Given the description of an element on the screen output the (x, y) to click on. 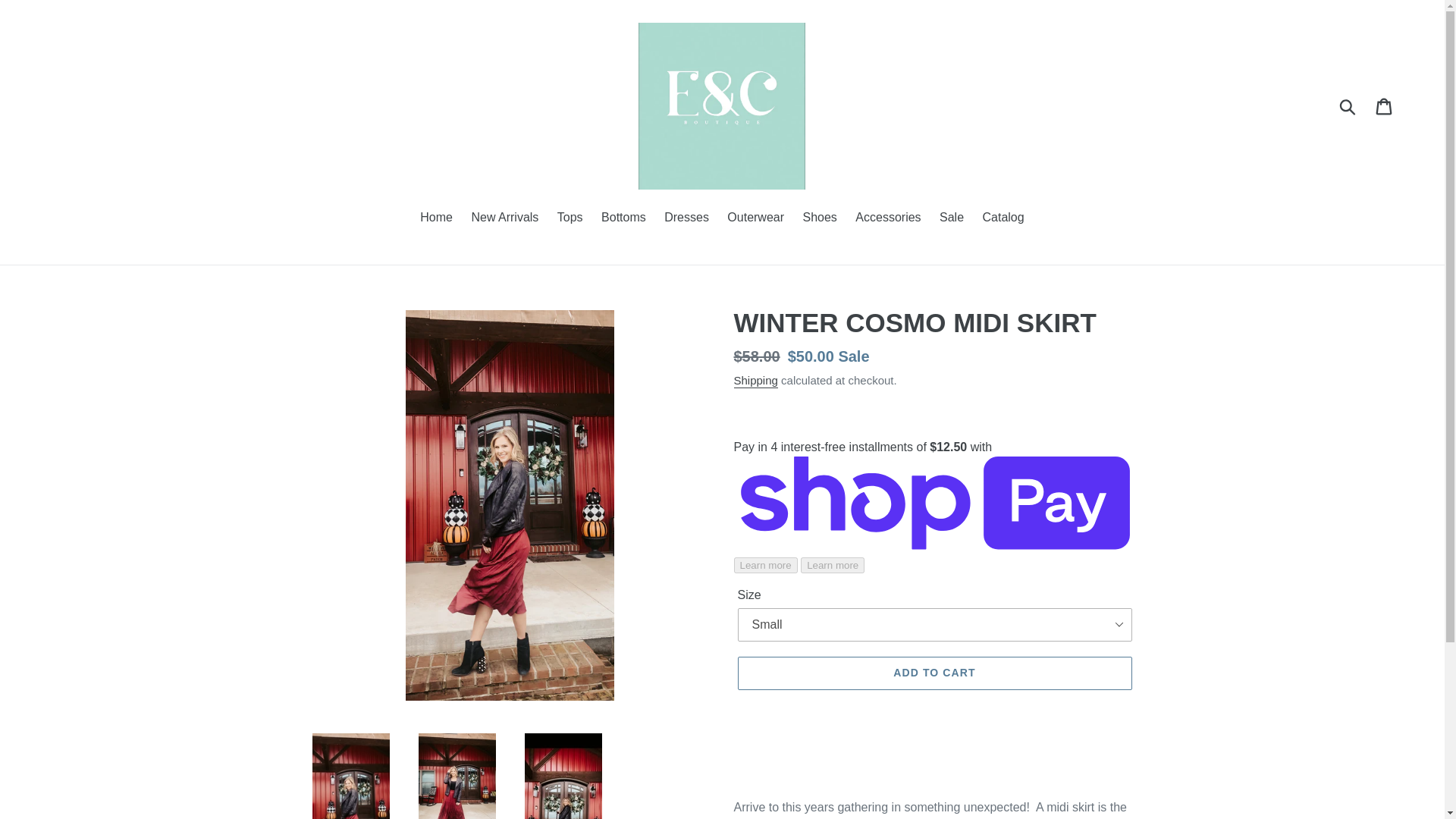
Catalog (1003, 218)
Sale (951, 218)
Shoes (819, 218)
Dresses (686, 218)
New Arrivals (504, 218)
Outerwear (755, 218)
Tops (570, 218)
Bottoms (623, 218)
Submit (1348, 105)
Home (436, 218)
